Given the description of an element on the screen output the (x, y) to click on. 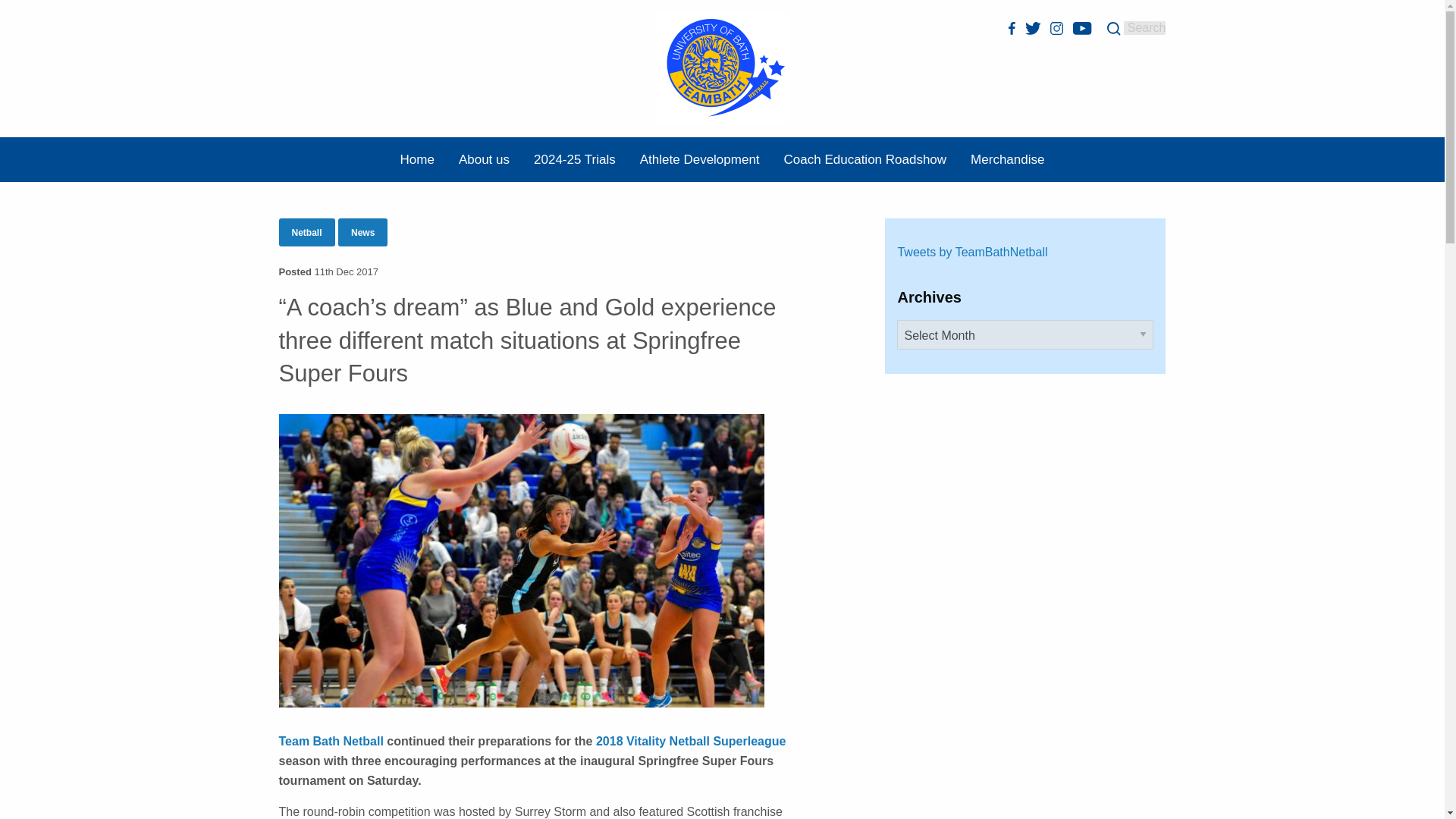
News (362, 231)
Team Bath Netball (331, 740)
Tweets by TeamBathNetball (971, 251)
Netball (306, 231)
2024-25 Trials (574, 159)
2018 Vitality Netball Superleague (690, 740)
Home (417, 159)
Athlete Development (699, 159)
Coach Education Roadshow (865, 159)
About us (483, 159)
